Given the description of an element on the screen output the (x, y) to click on. 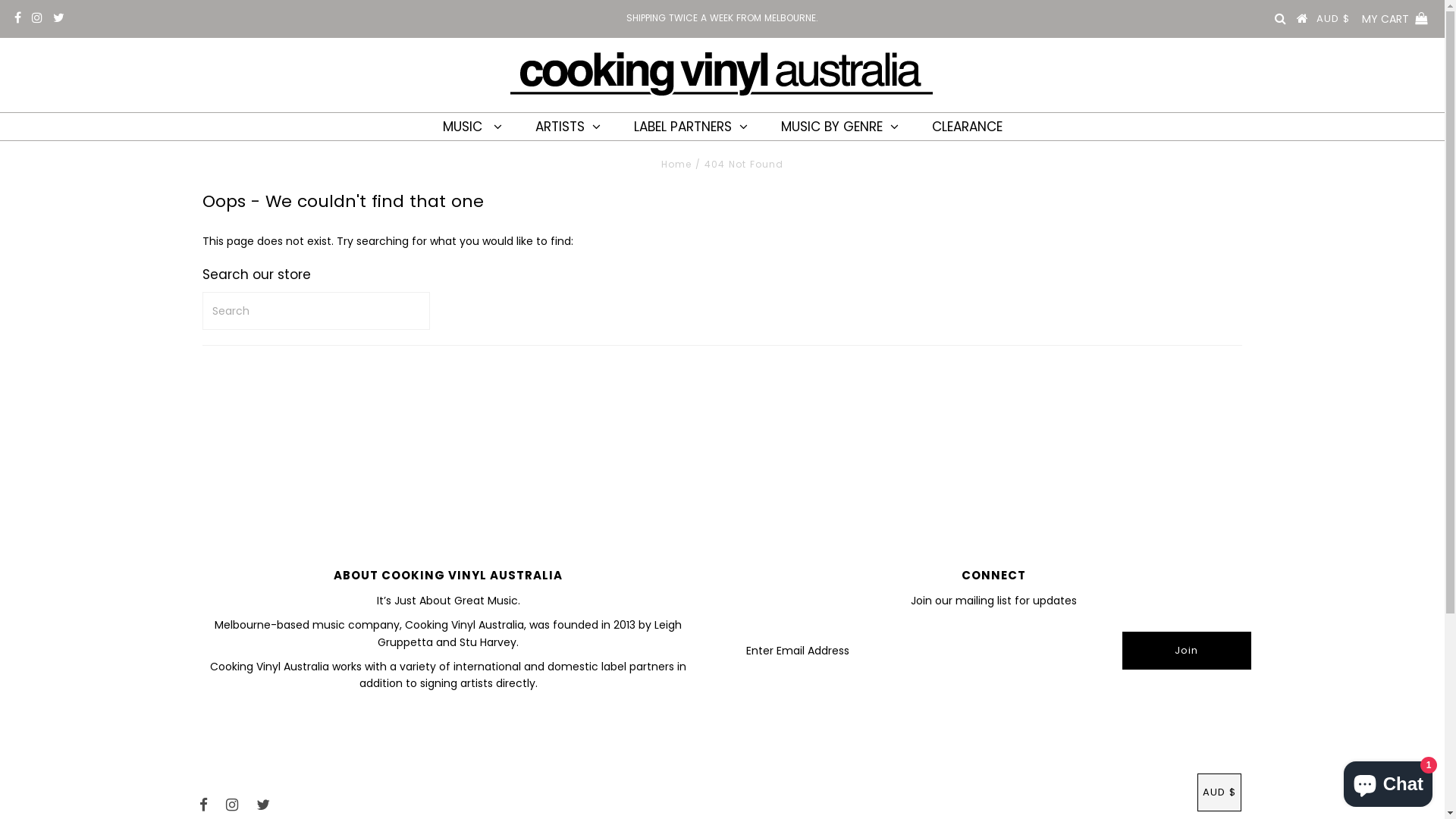
CLEARANCE Element type: text (966, 126)
SHIPPING TWICE A WEEK FROM MELBOURNE. Element type: text (722, 17)
Home Element type: text (676, 163)
Join Element type: text (1186, 650)
Shopify online store chat Element type: hover (1388, 780)
AUD $ Element type: text (1219, 792)
MY CART    Element type: text (1395, 18)
MUSIC Element type: text (472, 126)
AUD $ Element type: text (1332, 18)
MUSIC BY GENRE Element type: text (839, 126)
ARTISTS Element type: text (567, 126)
LABEL PARTNERS Element type: text (690, 126)
